Given the description of an element on the screen output the (x, y) to click on. 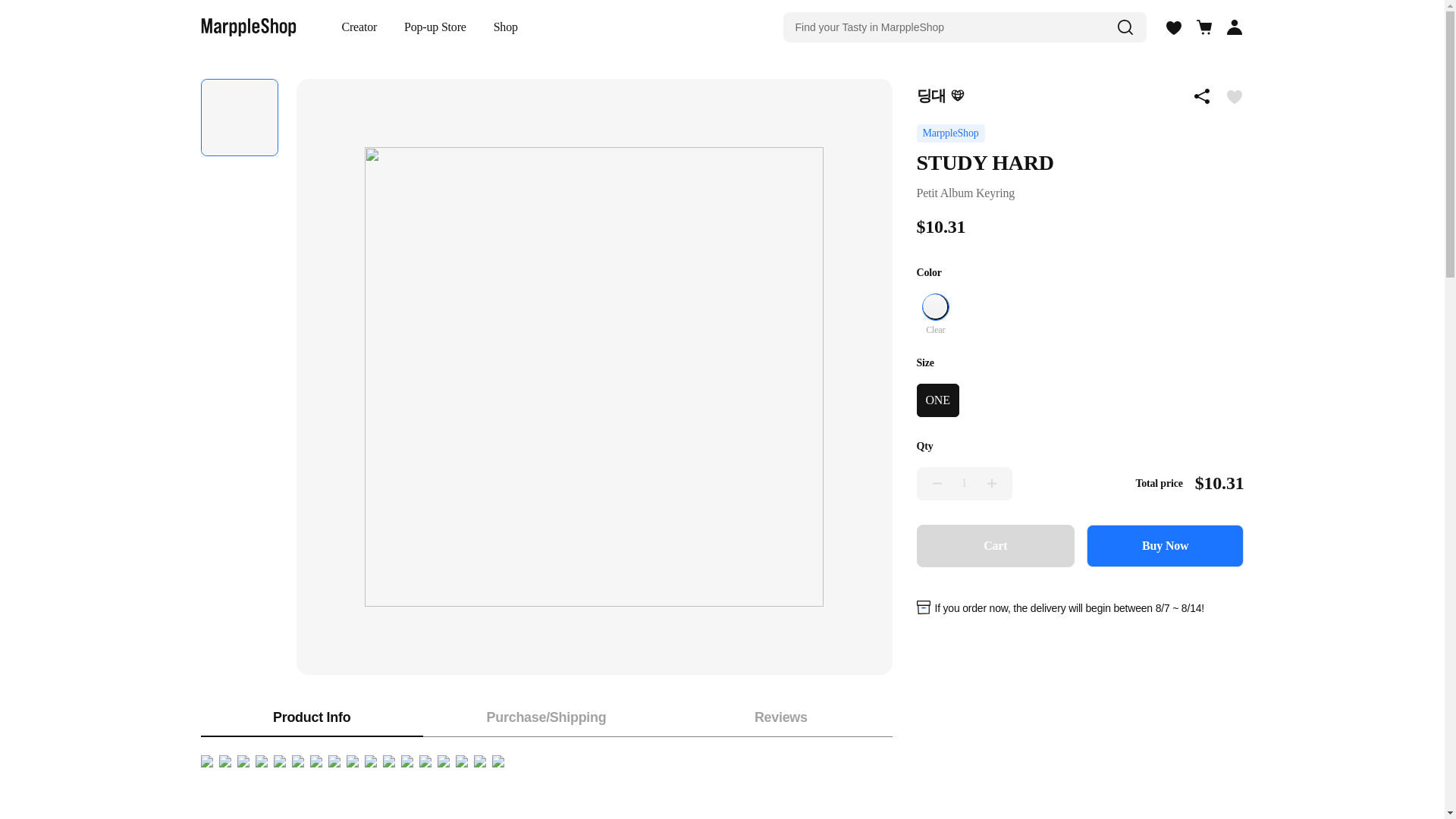
1 (963, 483)
Buy Now (1164, 545)
Cart (994, 545)
Clear (935, 307)
Clear (935, 329)
